Given the description of an element on the screen output the (x, y) to click on. 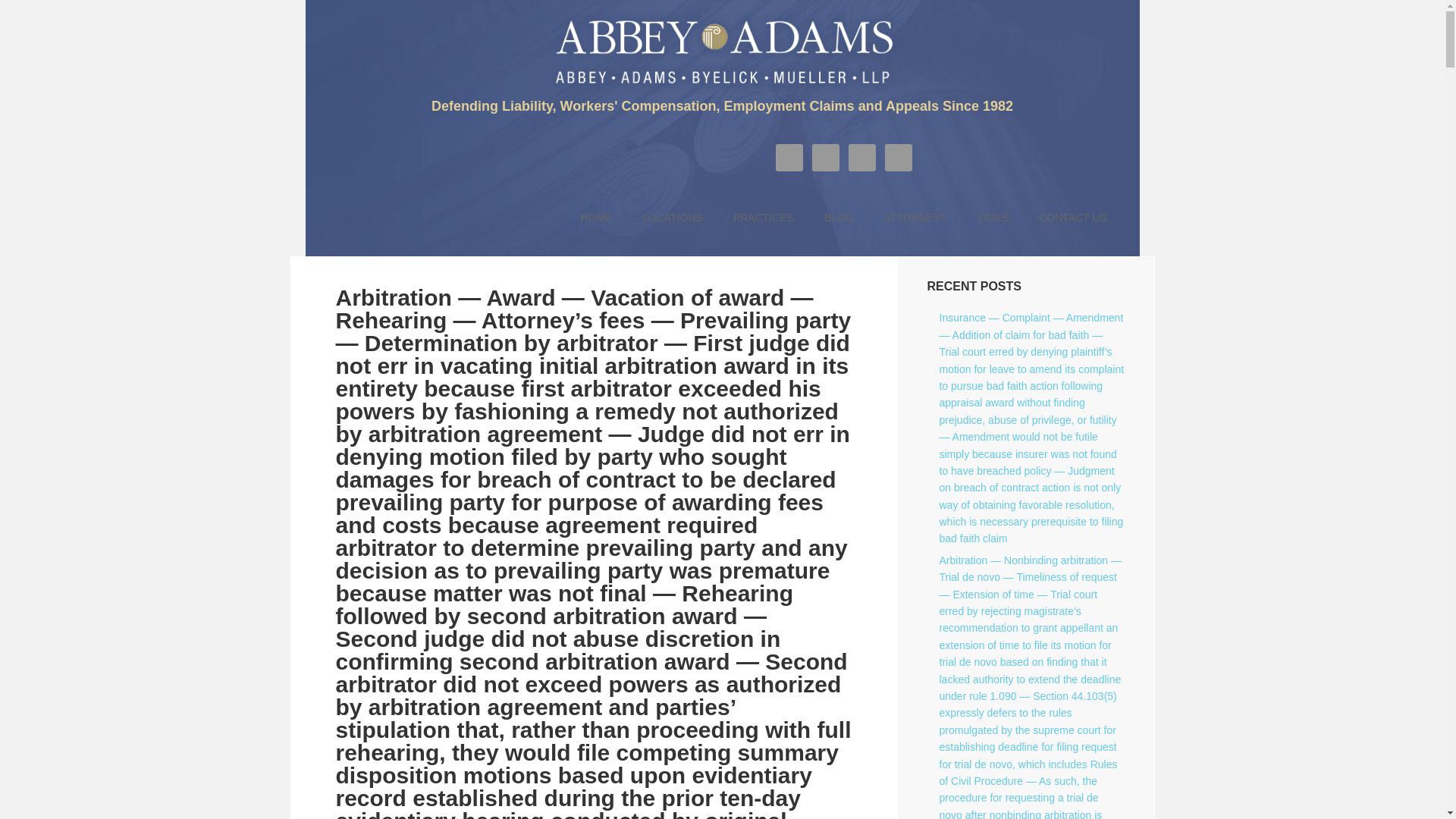
LOCATIONS (672, 218)
CONTACT US (1073, 218)
ATTORNEYS (915, 218)
PRACTICES (763, 218)
